Given the description of an element on the screen output the (x, y) to click on. 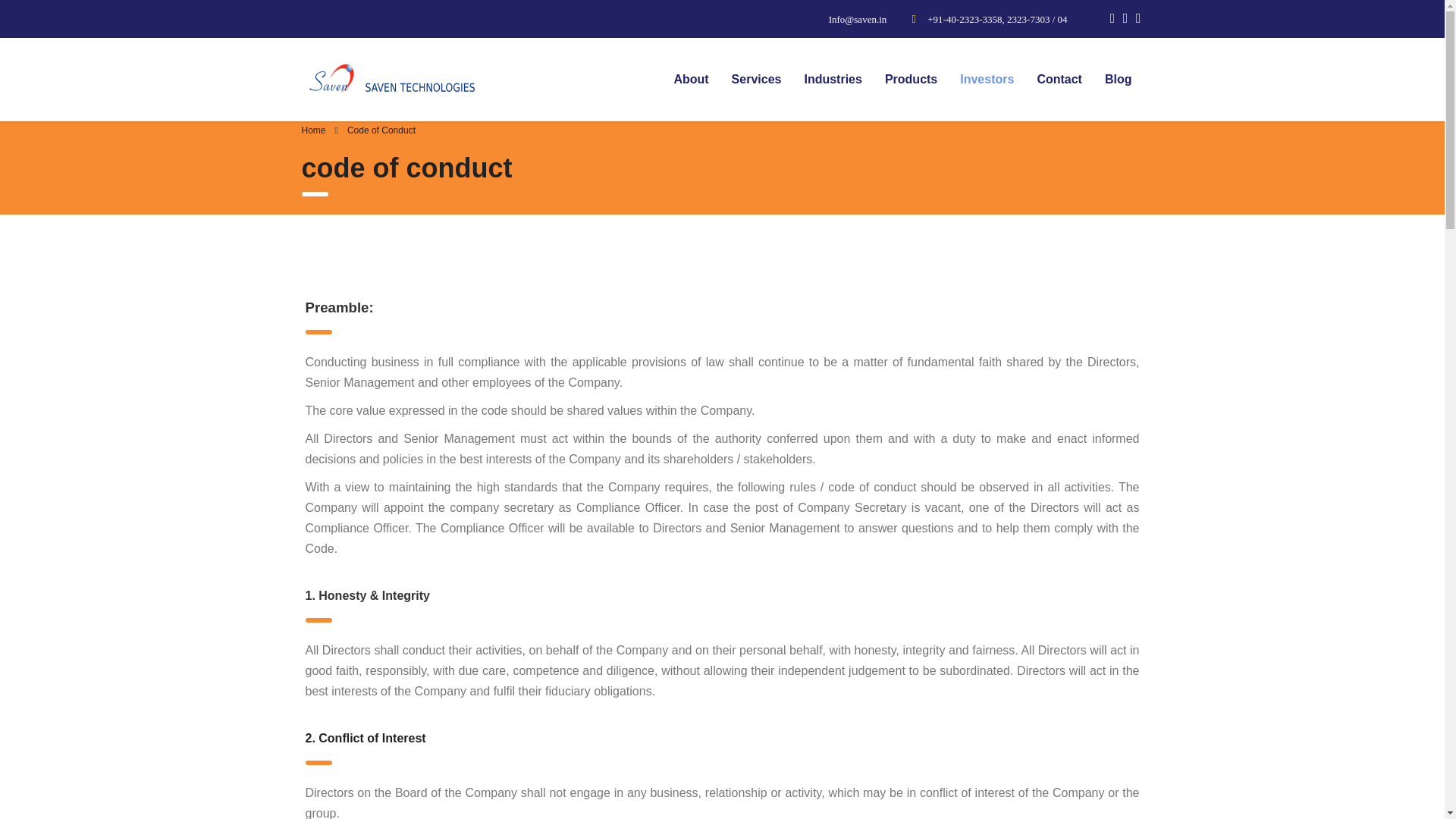
Services (756, 79)
Go to Saven. (313, 130)
Products (911, 79)
Industries (832, 79)
Investors (987, 79)
About (690, 79)
